Given the description of an element on the screen output the (x, y) to click on. 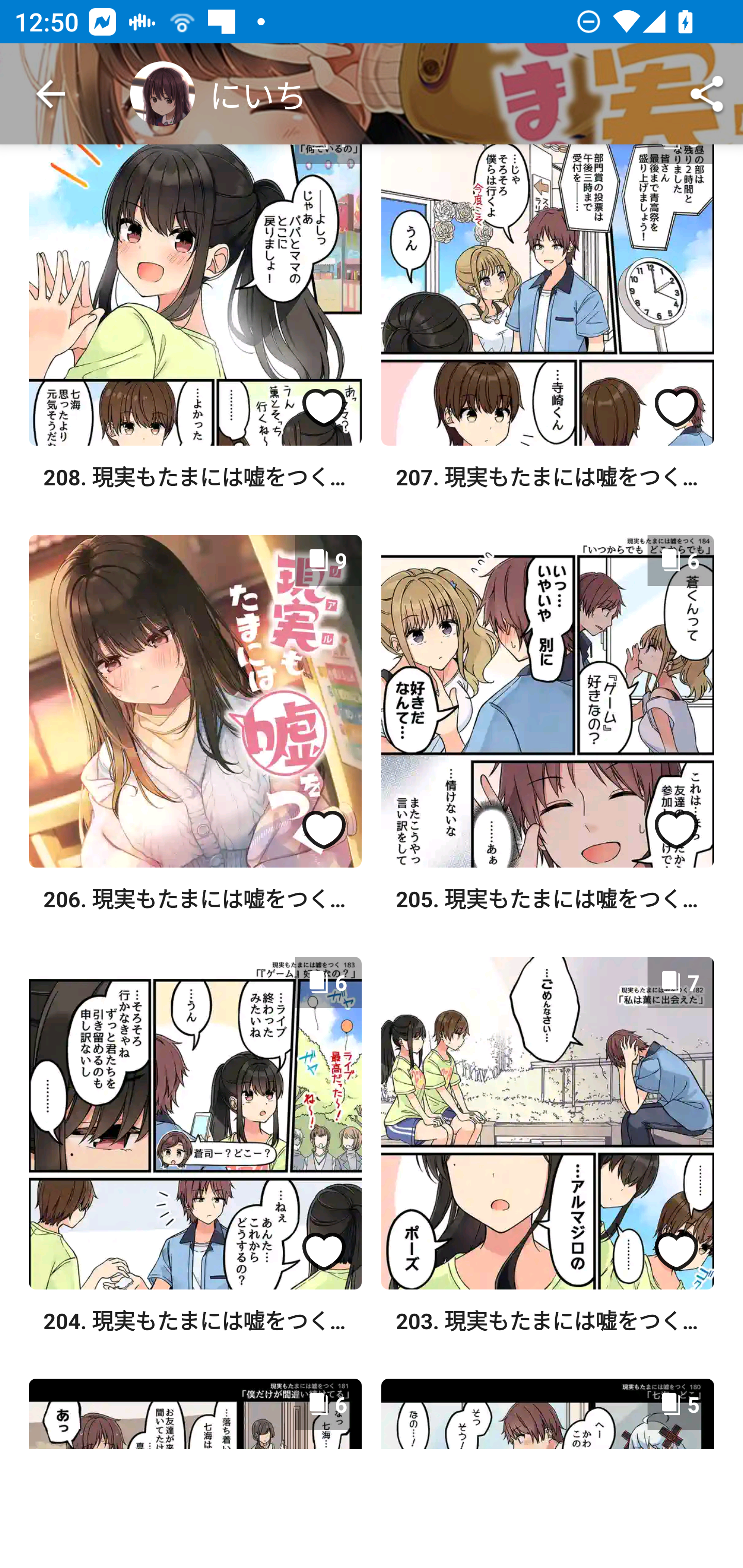
Navigate up (50, 93)
Share (706, 93)
にいち (218, 94)
4 (194, 294)
5 (547, 294)
9 (194, 700)
6 (547, 700)
6 (194, 1122)
7 (547, 1122)
